Given the description of an element on the screen output the (x, y) to click on. 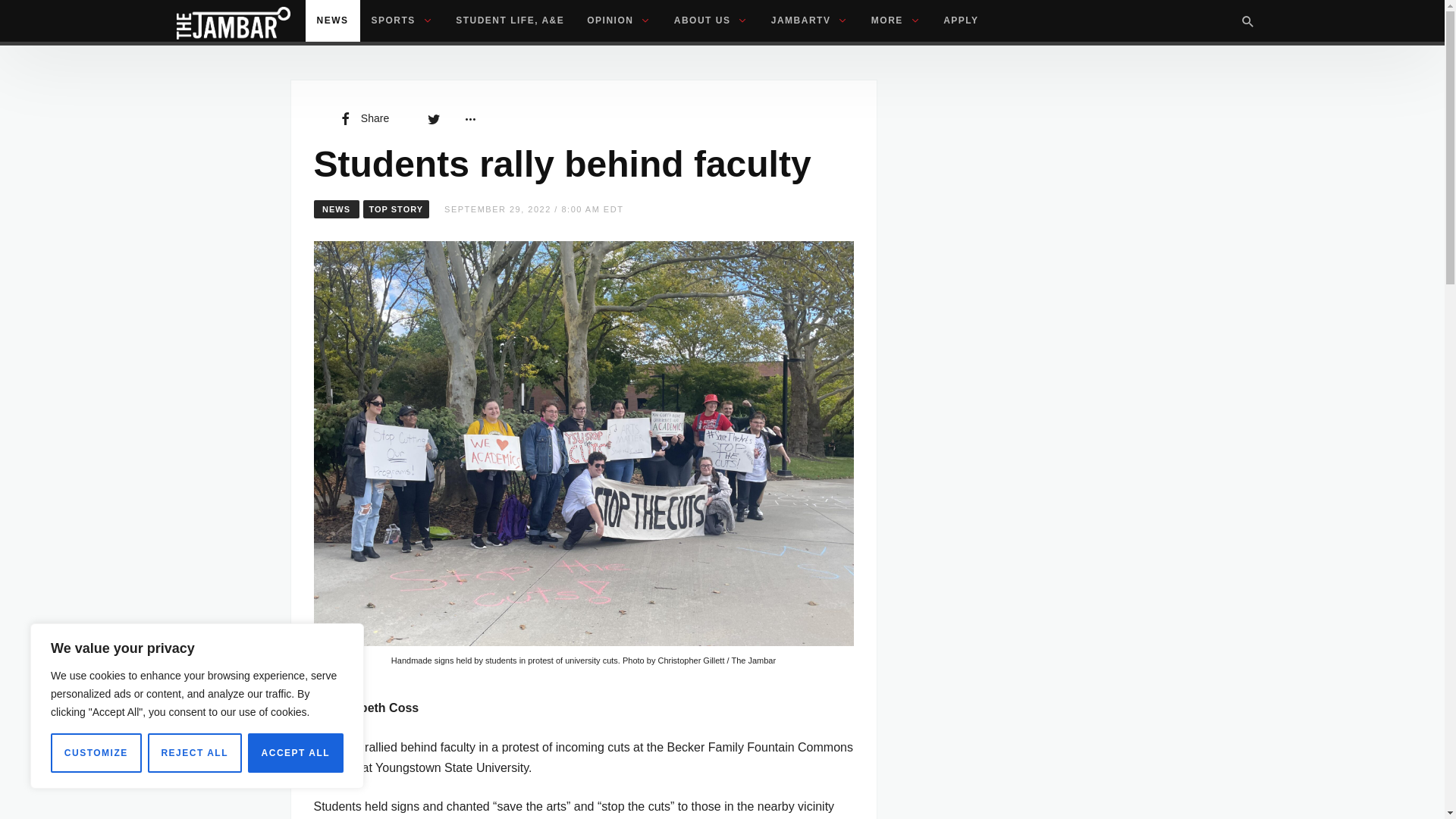
Share on Facebook (363, 118)
ABOUT US (711, 20)
View all posts in News (336, 208)
OPINION (618, 20)
MORE (895, 20)
ACCEPT ALL (295, 753)
View all posts in Top Story (395, 208)
CUSTOMIZE (95, 753)
Share on Twitter (433, 118)
JAMBARTV (810, 20)
More (469, 118)
NEWS (331, 20)
REJECT ALL (194, 753)
SPORTS (401, 20)
